Given the description of an element on the screen output the (x, y) to click on. 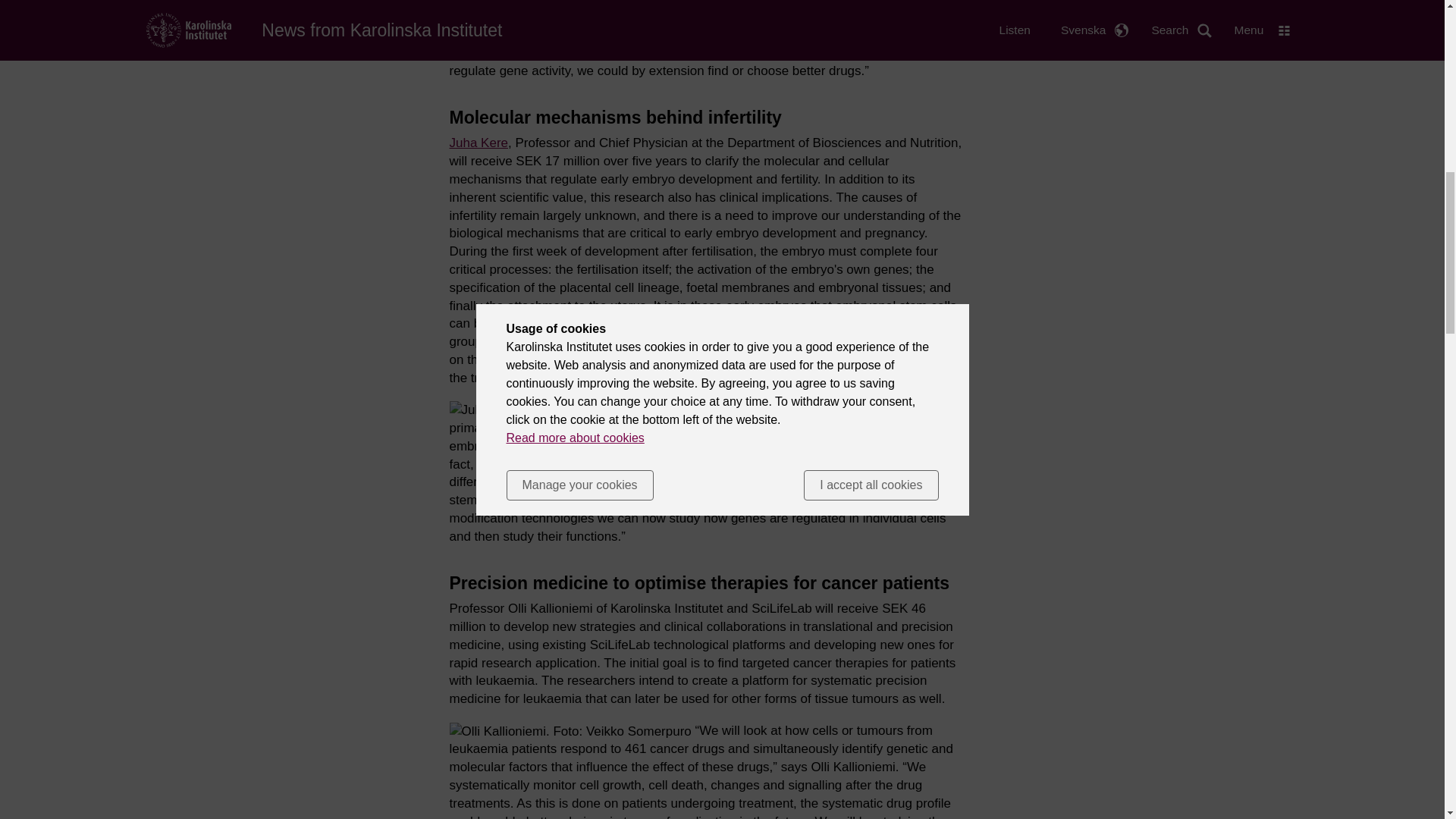
Juha Kere (478, 142)
Juha Kere. Photo: Ulf Sirborn (534, 410)
Olli Kallioniemi. Photo: Veikko Somerpuro (569, 731)
